Given the description of an element on the screen output the (x, y) to click on. 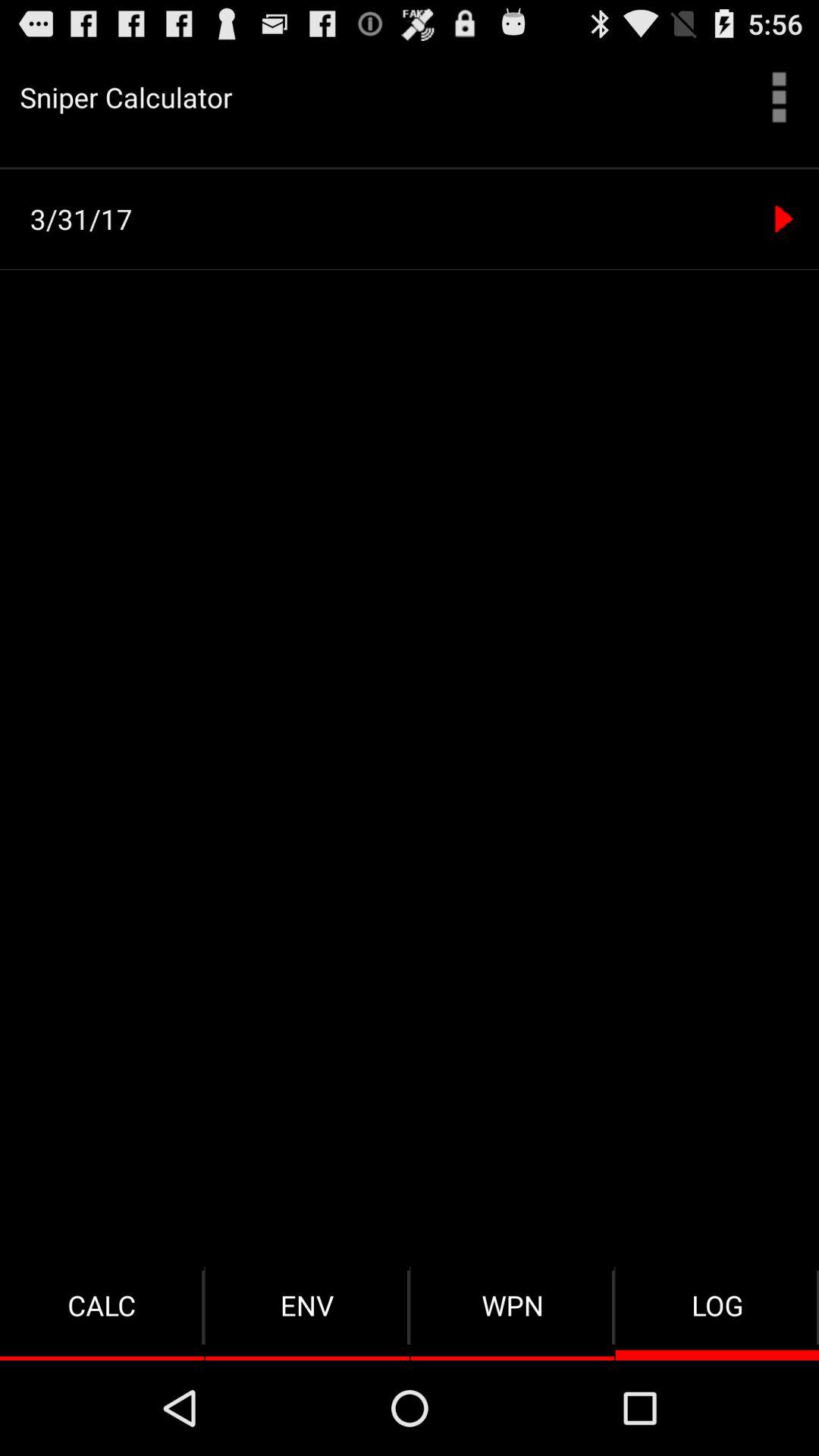
select the item below sniper calculator (409, 168)
